Given the description of an element on the screen output the (x, y) to click on. 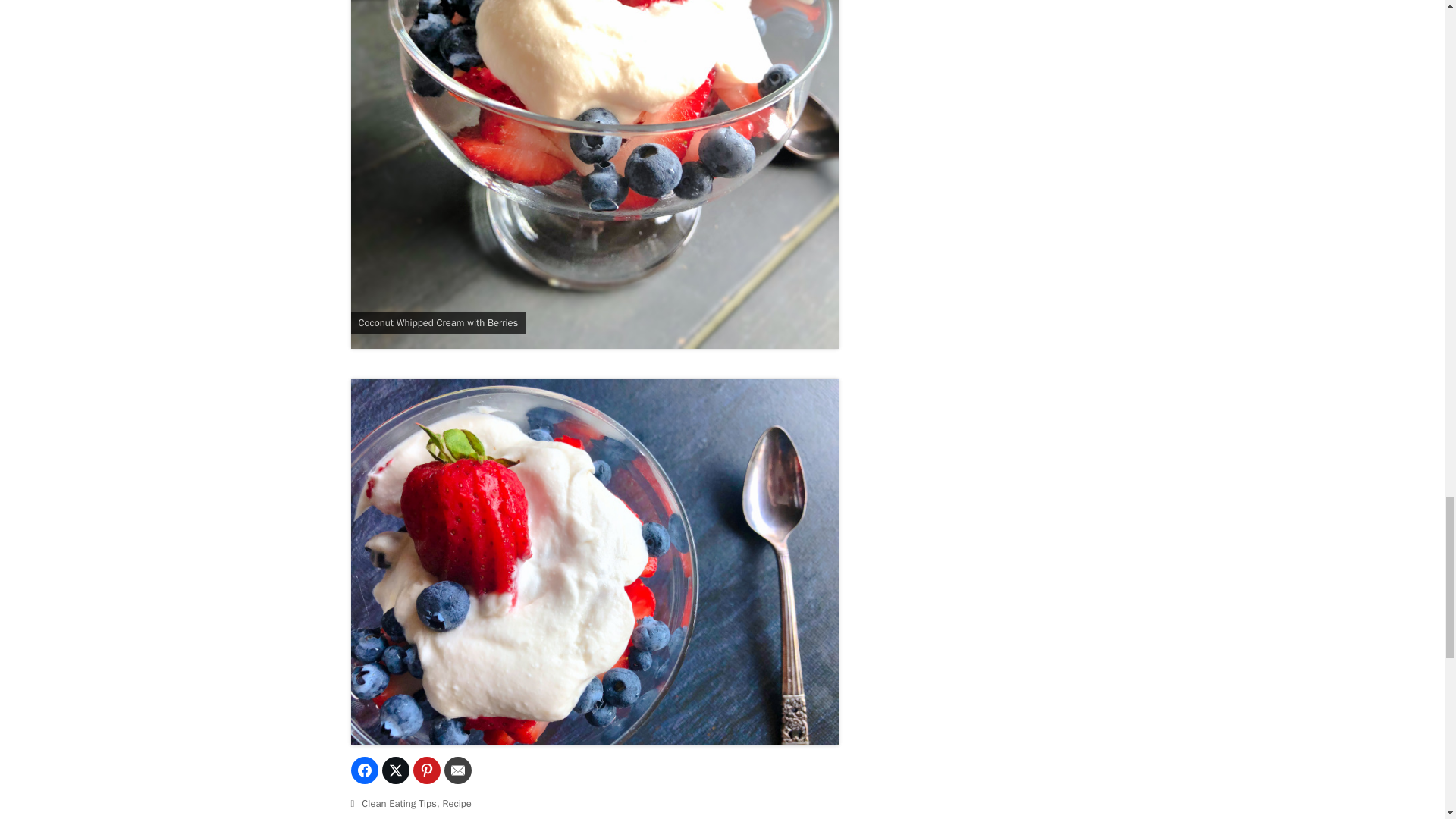
Share on Facebook (363, 769)
Share on Pinterest (425, 769)
Share on Twitter (395, 769)
